Given the description of an element on the screen output the (x, y) to click on. 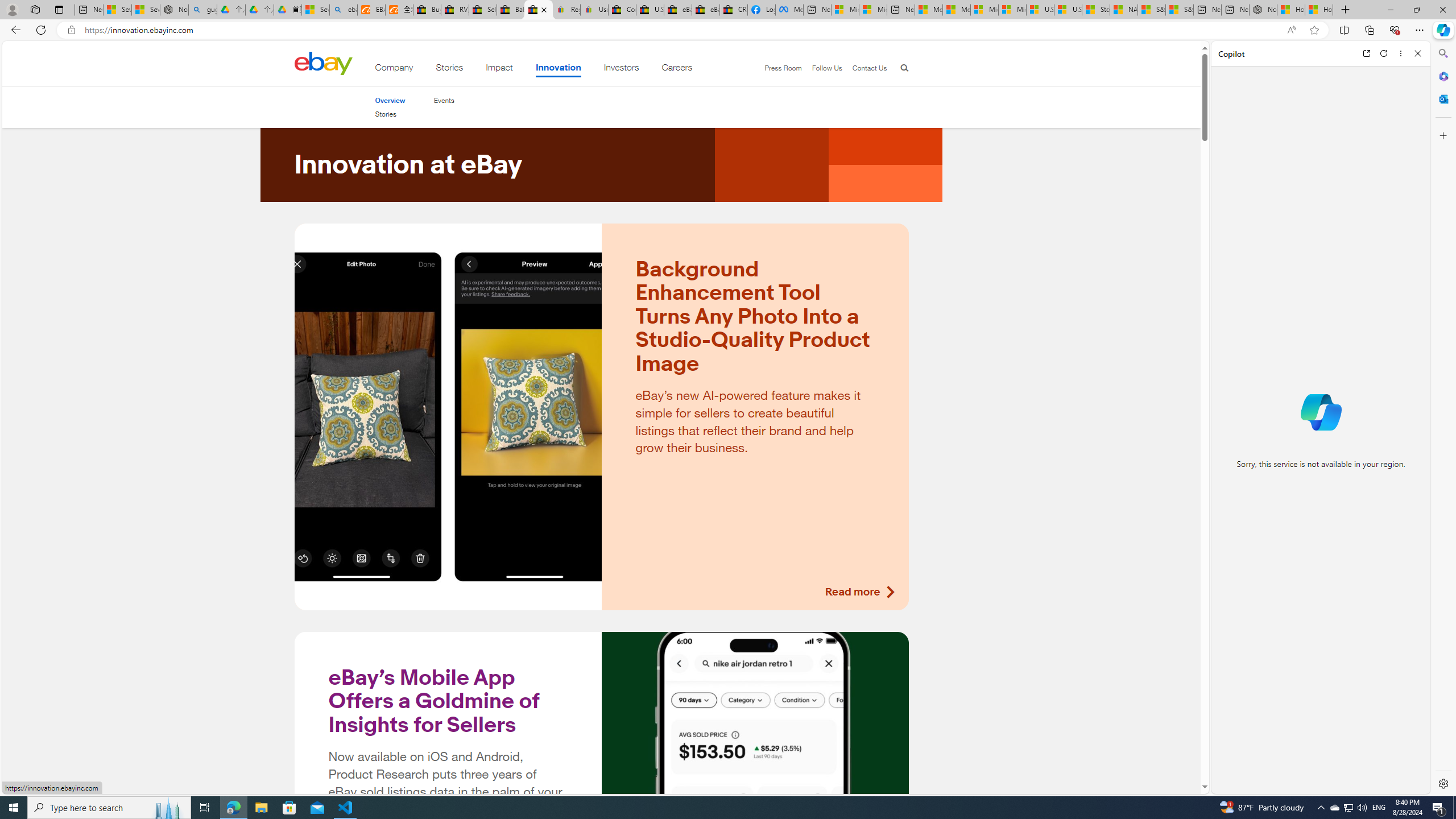
Press Room (783, 67)
Microsoft 365 (1442, 76)
guge yunpan - Search (202, 9)
Press Room (778, 68)
Outlook (1442, 98)
Overview (390, 100)
Company (393, 69)
Overview (390, 99)
Company (393, 69)
